Given the description of an element on the screen output the (x, y) to click on. 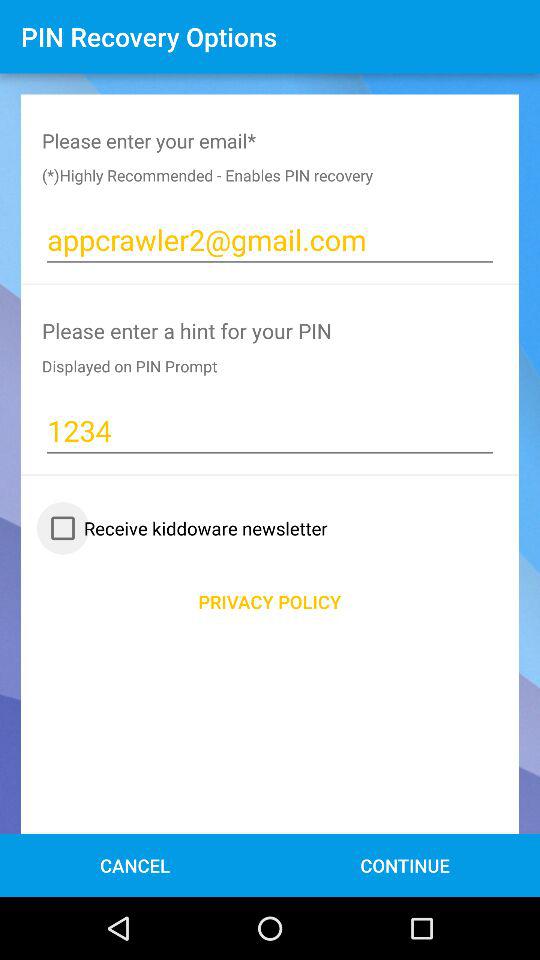
select the item next to the continue item (134, 864)
